Given the description of an element on the screen output the (x, y) to click on. 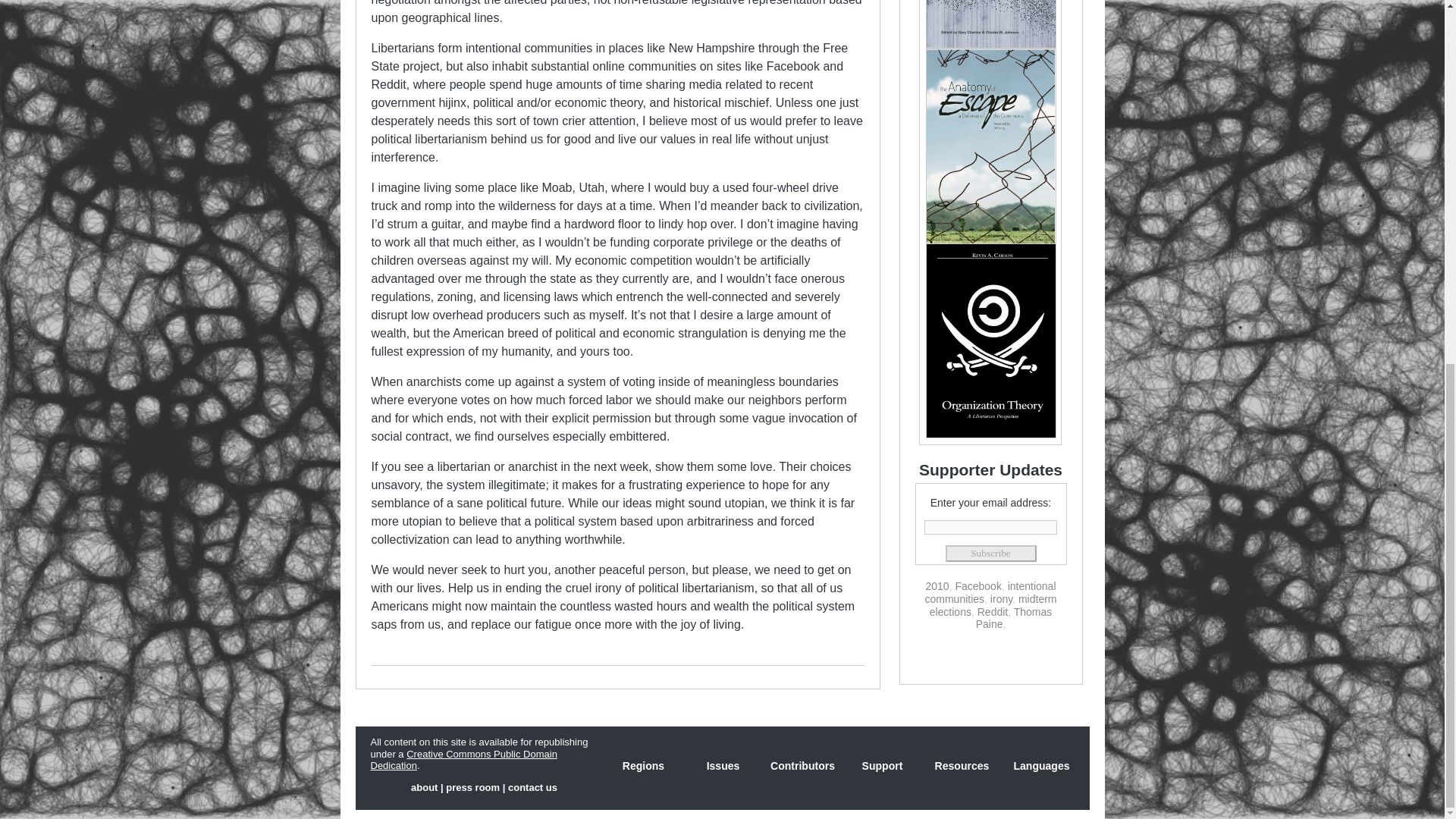
irony (1000, 598)
2010 (936, 585)
Support (881, 766)
intentional communities (989, 592)
Reddit (991, 612)
Facebook (978, 585)
about (424, 787)
midterm elections (993, 605)
Resources (961, 766)
press room (472, 787)
Creative Commons Public Domain Dedication (462, 760)
Regions (644, 766)
Contributors (802, 766)
Issues (722, 766)
Subscribe (989, 553)
